Given the description of an element on the screen output the (x, y) to click on. 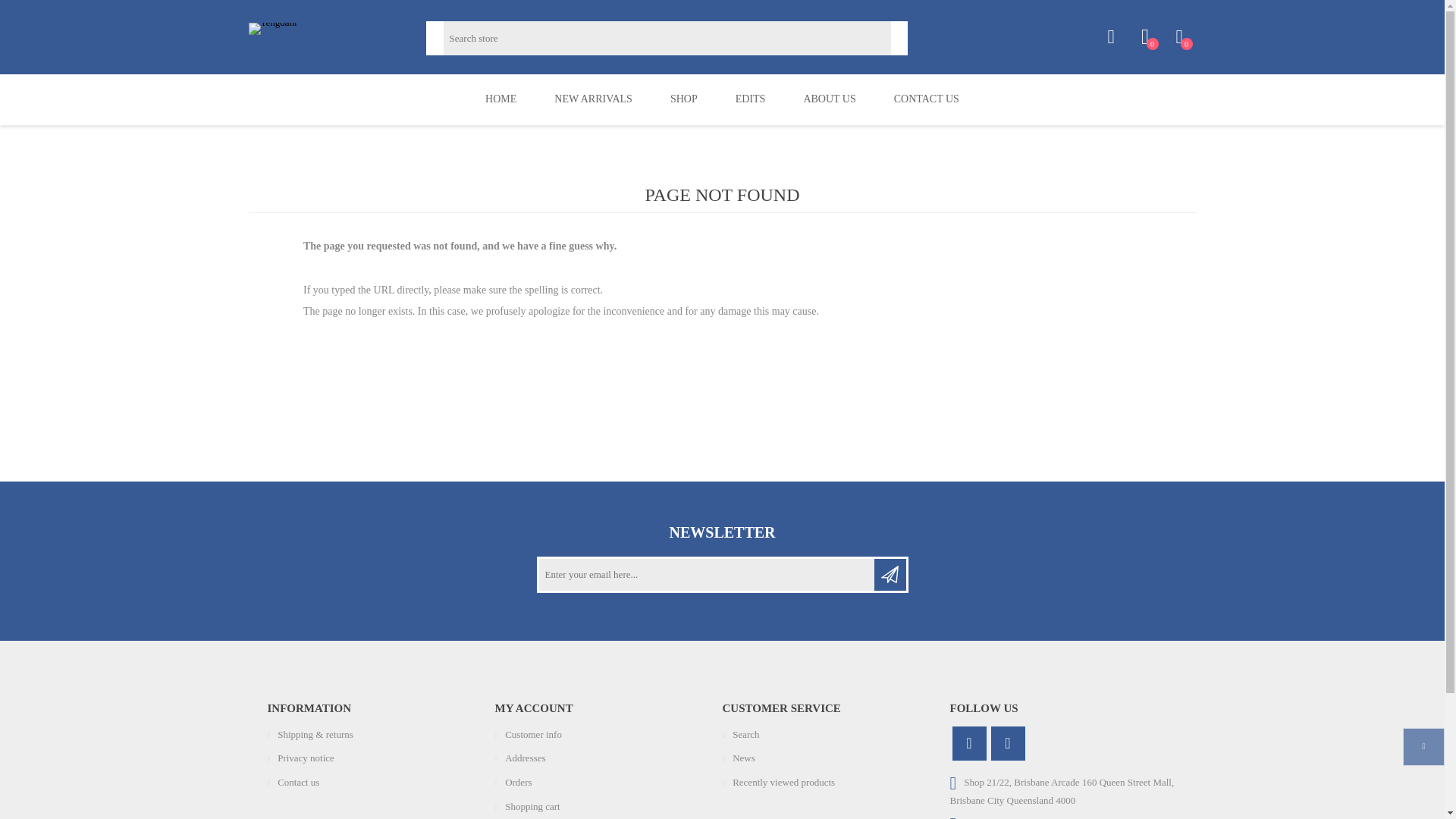
Subscribe (889, 574)
Customer info (533, 734)
Shopping cart (1178, 37)
Search (745, 734)
ABOUT US (829, 99)
EDITS (750, 99)
SHOP (683, 99)
Contact us (298, 781)
Addresses (524, 757)
News (743, 757)
NEW ARRIVALS (592, 99)
Shopping cart (532, 806)
HOME (500, 99)
Recently viewed products (783, 781)
CONTACT US (926, 99)
